Given the description of an element on the screen output the (x, y) to click on. 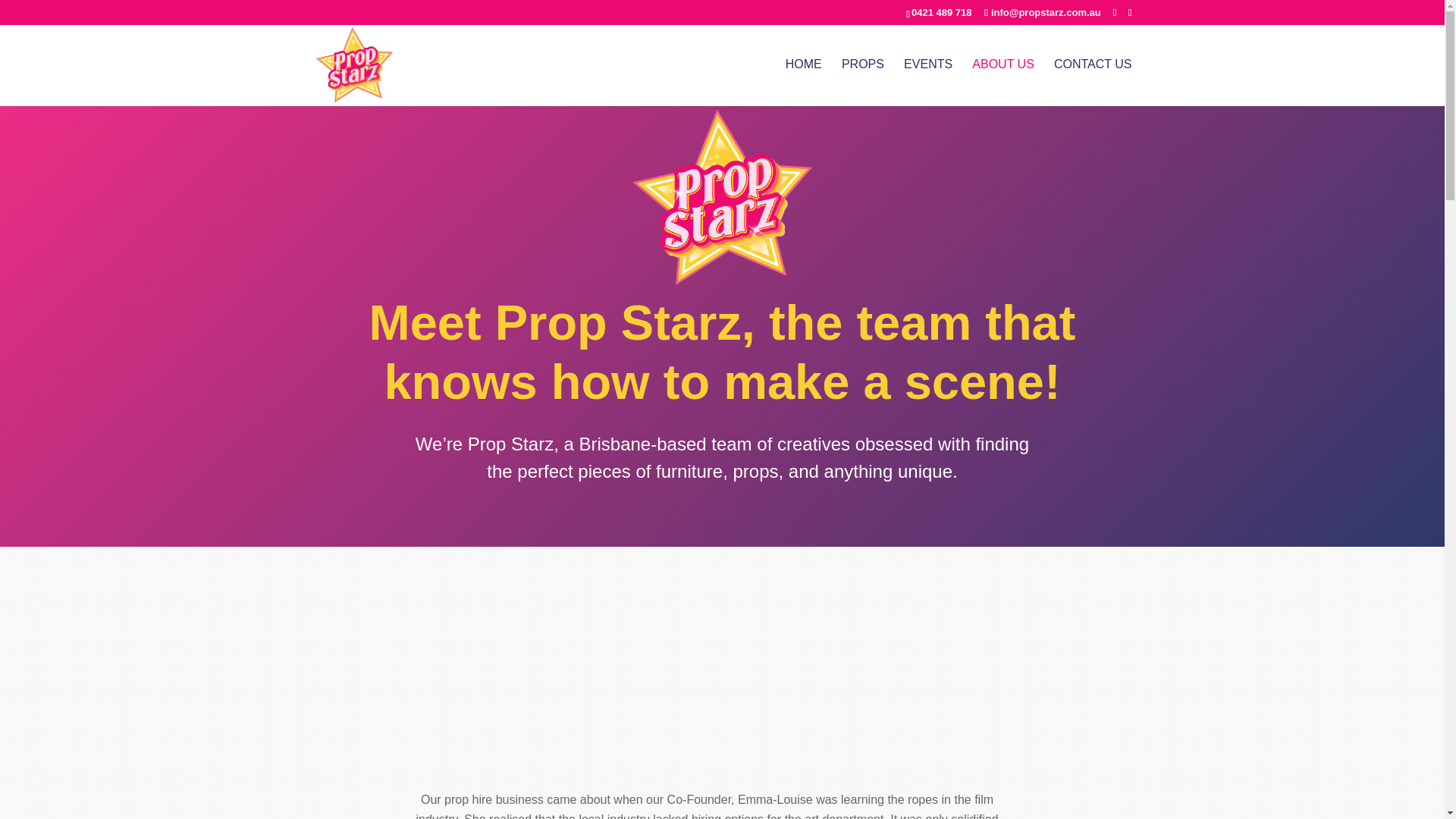
CONTACT US (1093, 82)
0421 489 718 (941, 12)
propstarz-logo-rgb (721, 196)
PROPS (862, 82)
EVENTS (928, 82)
ABOUT US (1002, 82)
